Given the description of an element on the screen output the (x, y) to click on. 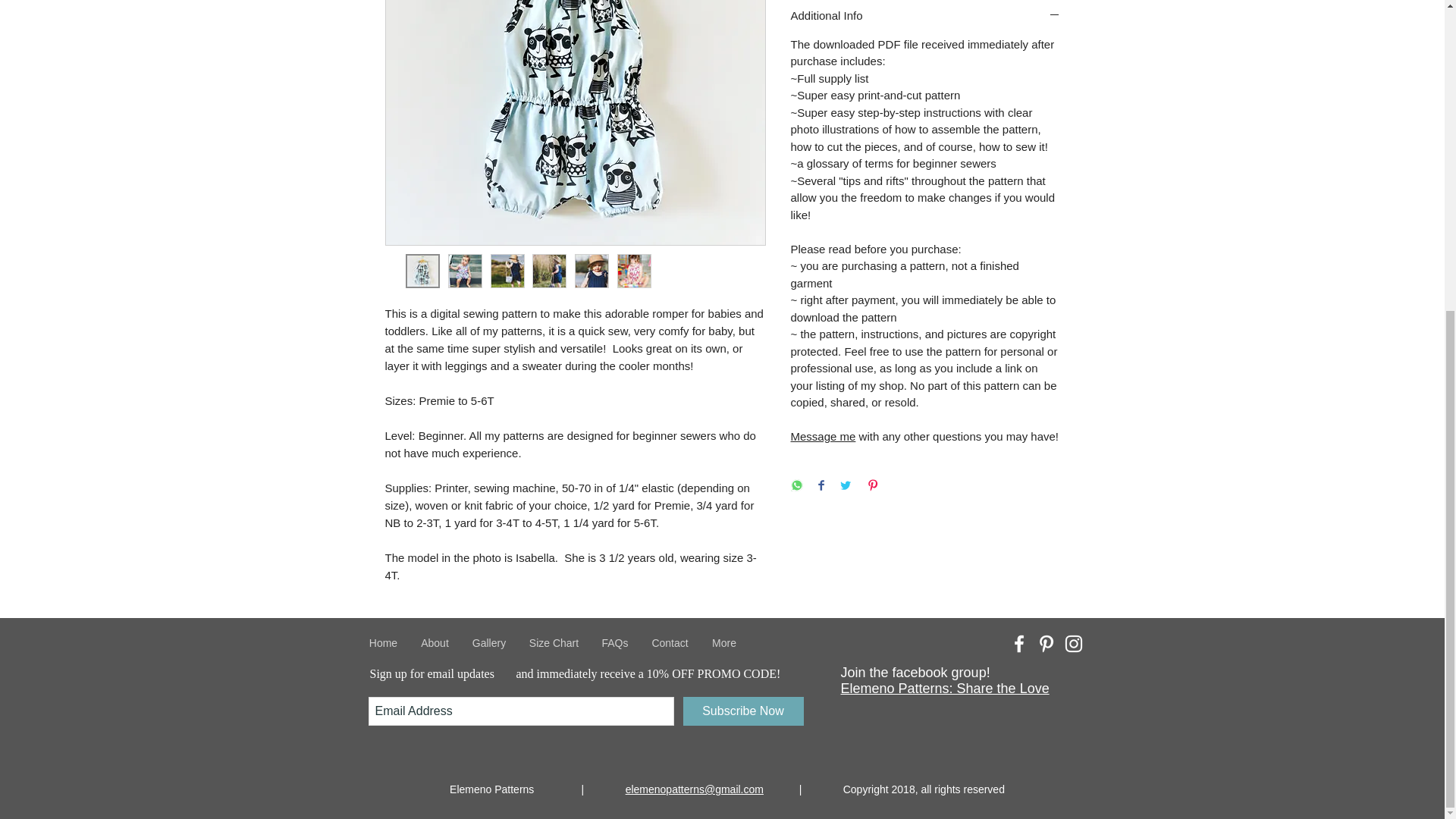
Size Chart (552, 643)
FAQs (614, 643)
Contact (670, 643)
Message me (823, 436)
About (435, 643)
Additional Info (924, 16)
Home (383, 643)
Gallery (489, 643)
